Given the description of an element on the screen output the (x, y) to click on. 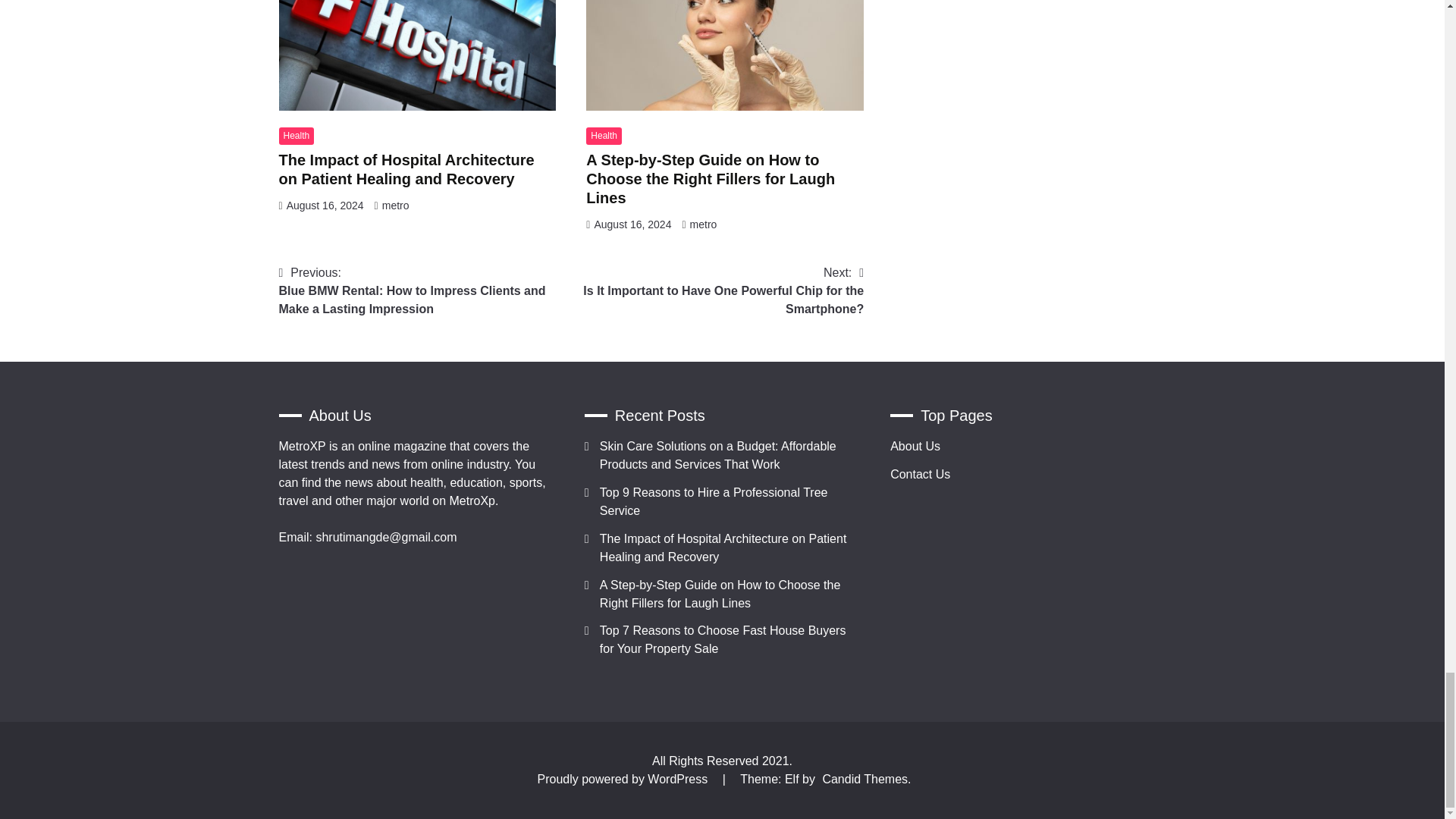
metro (395, 205)
Health (296, 135)
August 16, 2024 (325, 205)
Health (603, 135)
